Given the description of an element on the screen output the (x, y) to click on. 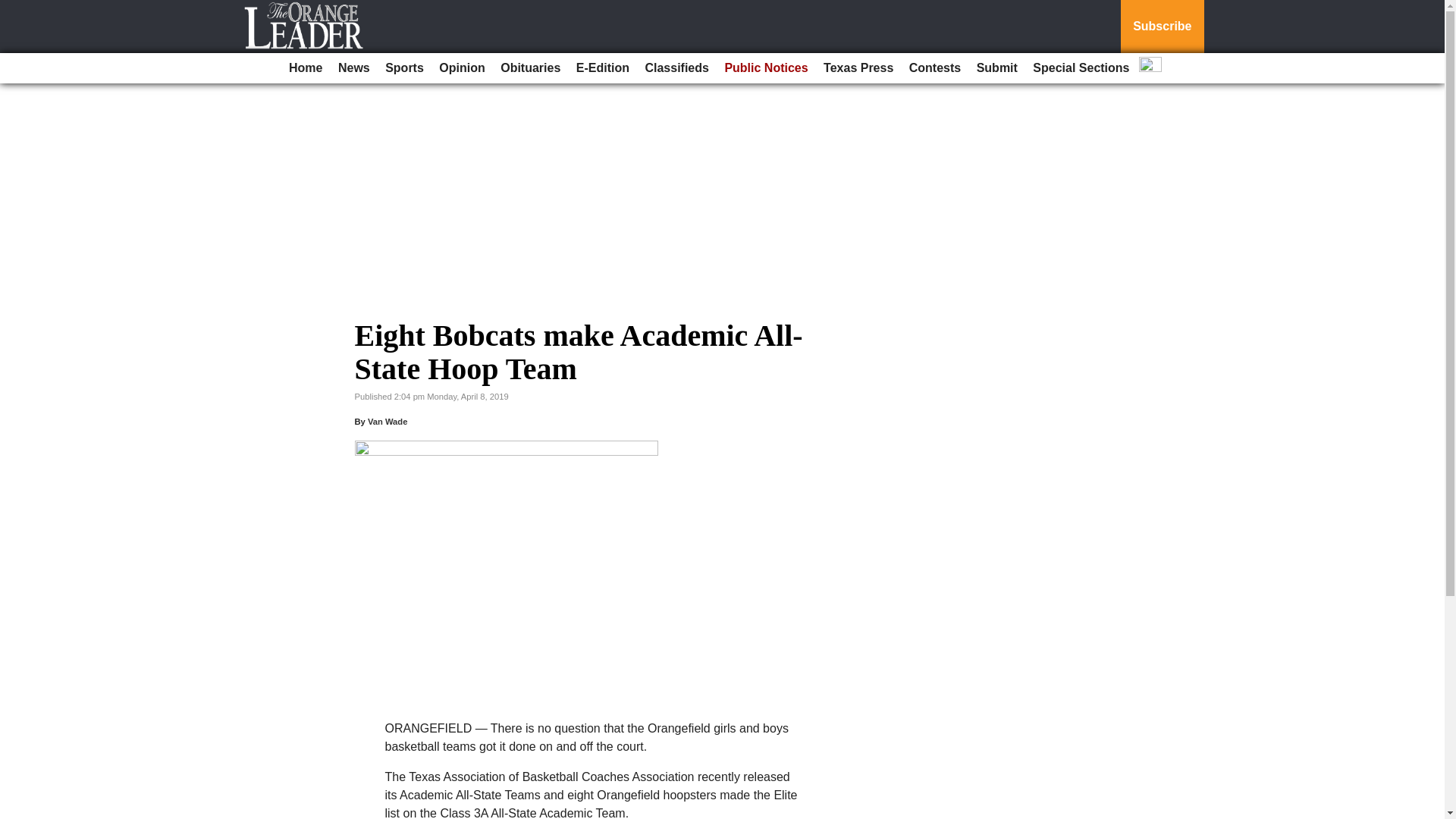
Home (305, 68)
Van Wade (387, 420)
News (353, 68)
Obituaries (530, 68)
Public Notices (765, 68)
E-Edition (602, 68)
Opinion (461, 68)
Texas Press (857, 68)
Contests (934, 68)
Subscribe (1162, 26)
Classifieds (676, 68)
Sports (403, 68)
Special Sections (1080, 68)
Go (13, 9)
Submit (997, 68)
